Given the description of an element on the screen output the (x, y) to click on. 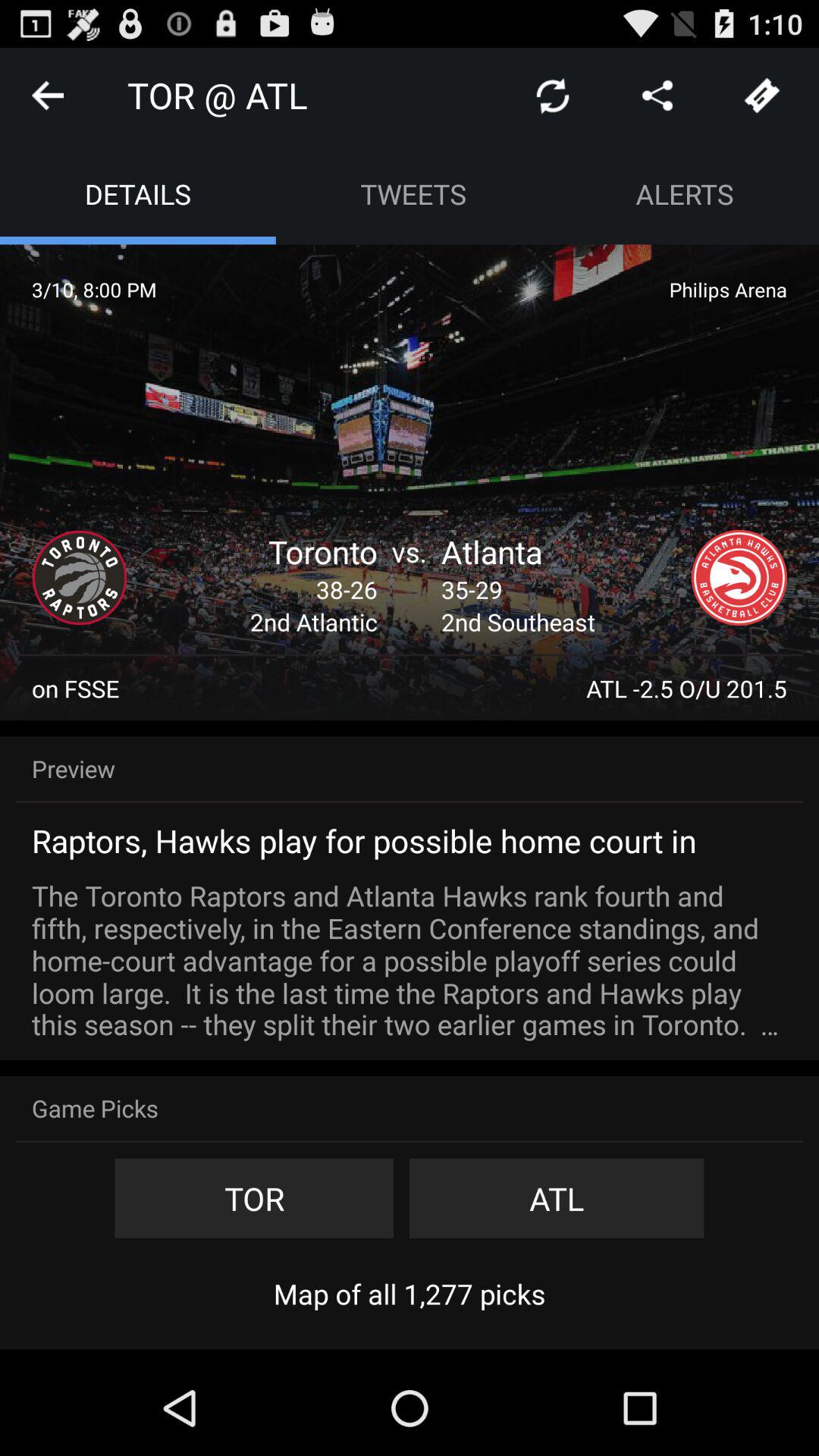
dont know (762, 95)
